Given the description of an element on the screen output the (x, y) to click on. 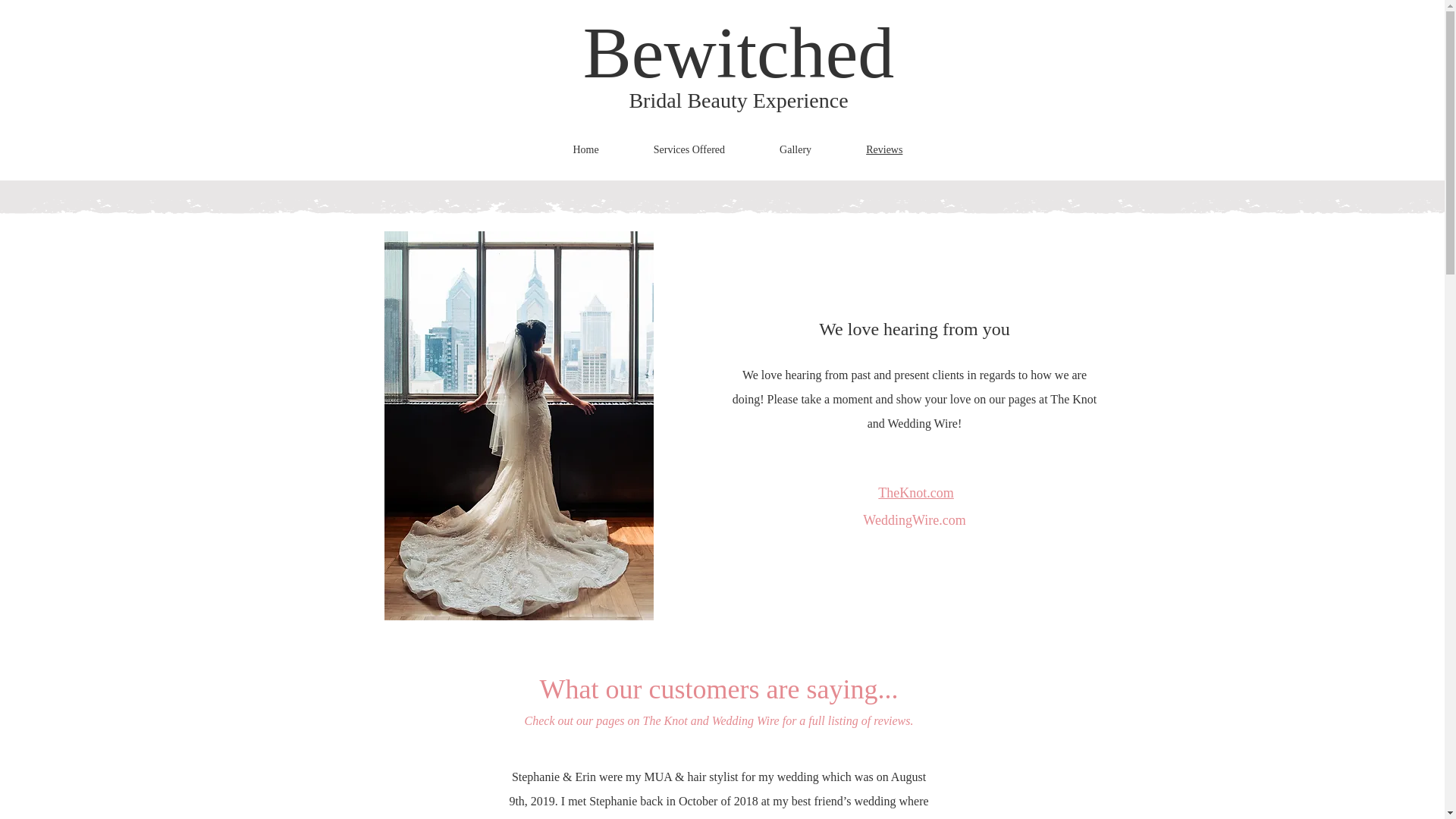
TheKnot.com (915, 494)
Home (613, 150)
Gallery (822, 150)
WeddingWire.com (914, 521)
Reviews (911, 150)
Services Offered (715, 150)
